Given the description of an element on the screen output the (x, y) to click on. 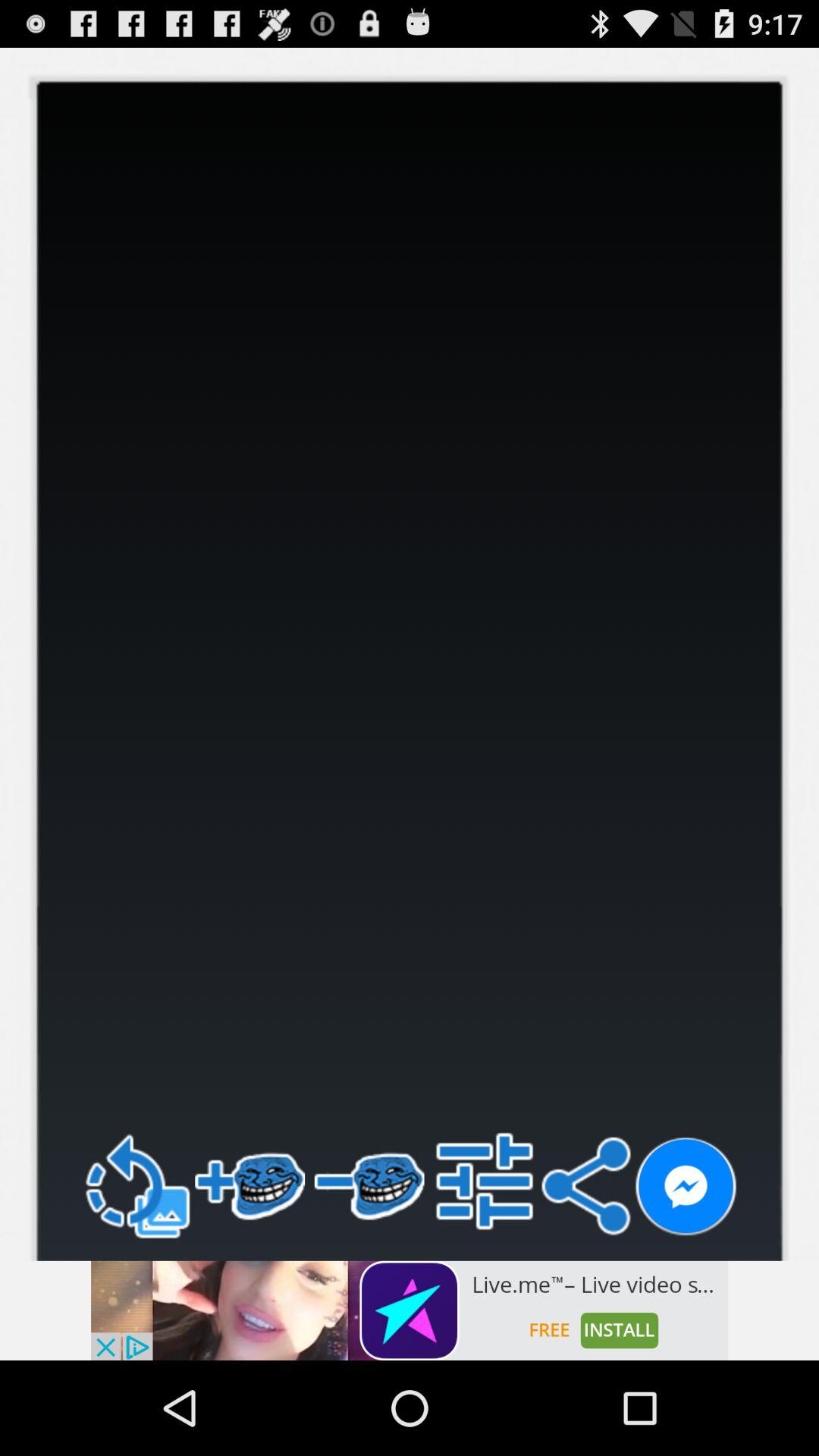
go to refresh (136, 1186)
